Given the description of an element on the screen output the (x, y) to click on. 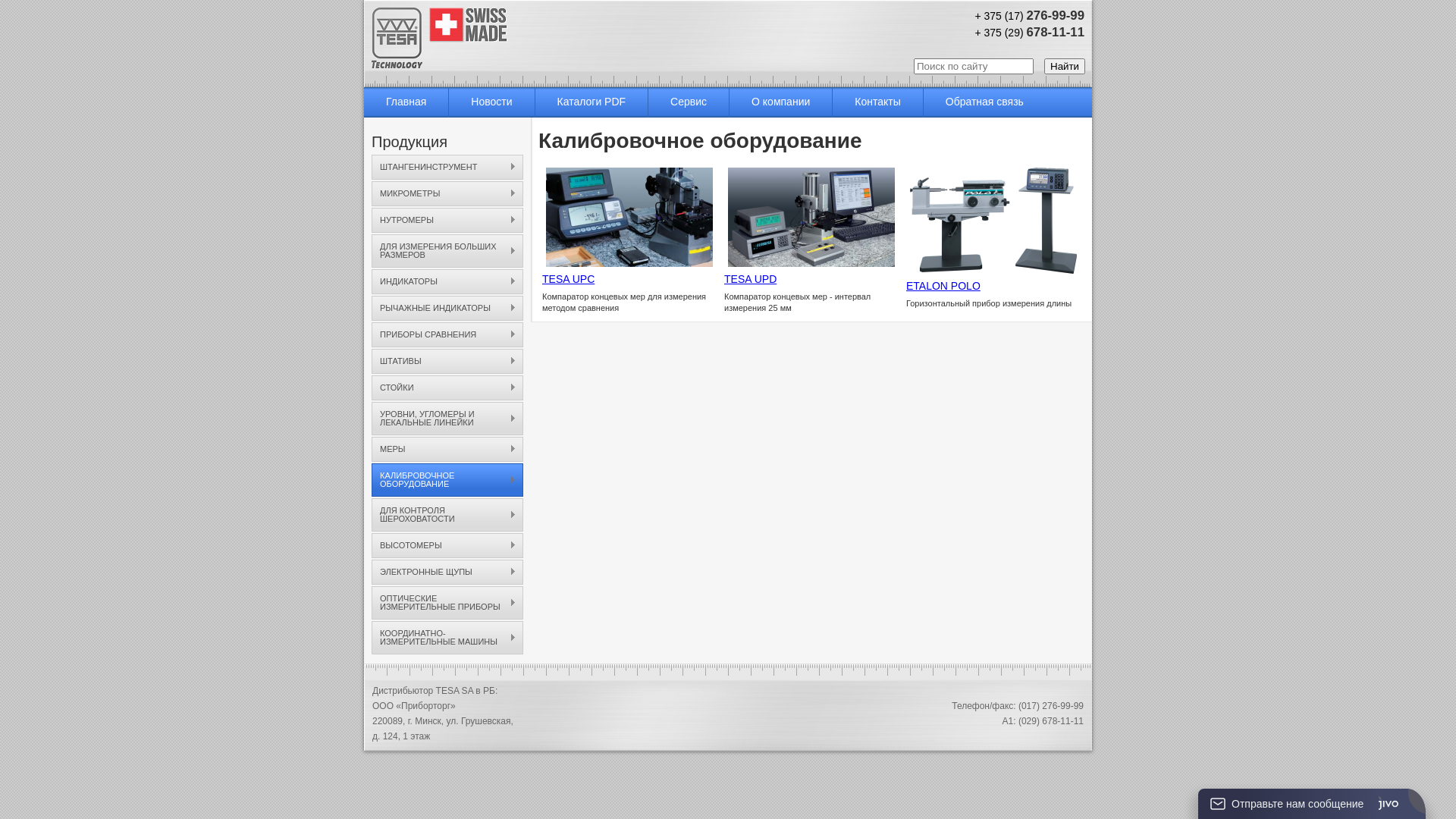
ETALON POLO Element type: text (943, 285)
TESA UPD Element type: text (750, 279)
TESA UPC Element type: text (568, 279)
